Given the description of an element on the screen output the (x, y) to click on. 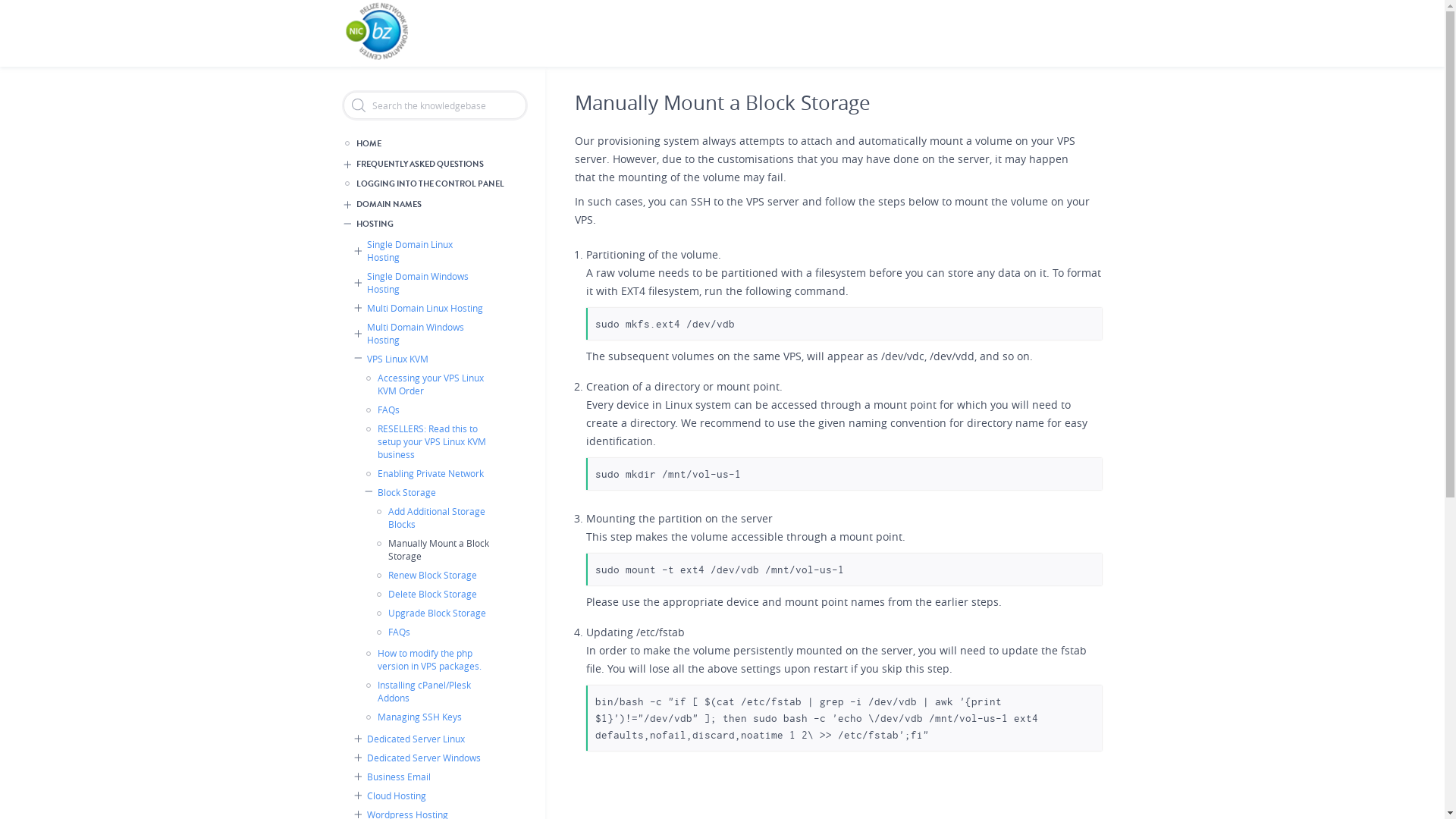
Cloud Hosting Element type: text (423, 794)
Skip to main content Element type: text (722, 1)
Single Domain Windows Hosting Element type: text (423, 282)
DOMAIN NAMES Element type: text (433, 204)
FREQUENTLY ASKED QUESTIONS Element type: text (433, 163)
Accessing your VPS Linux KVM Order Element type: text (428, 384)
Search Element type: text (12, 9)
How to modify the php version in VPS packages. Element type: text (428, 659)
Upgrade Block Storage Element type: text (439, 612)
Installing cPanel/Plesk Addons Element type: text (428, 691)
Managing SSH Keys Element type: text (428, 716)
RESELLERS: Read this to setup your VPS Linux KVM business Element type: text (428, 440)
VPS Linux KVM Element type: text (423, 357)
Enter the terms you wish to search for. Element type: hover (433, 105)
FAQs Element type: text (439, 630)
HOME Element type: text (428, 144)
Business Email Element type: text (423, 776)
HOSTING Element type: text (433, 224)
LOGGING INTO THE CONTROL PANEL Element type: text (428, 184)
Enabling Private Network Element type: text (428, 473)
Delete Block Storage Element type: text (439, 592)
Multi Domain Windows Hosting Element type: text (423, 332)
Block Storage Element type: text (433, 491)
Add Additional Storage Blocks Element type: text (439, 517)
Single Domain Linux Hosting Element type: text (423, 250)
Manually Mount a Block Storage Element type: text (439, 549)
Dedicated Server Linux Element type: text (423, 738)
Renew Block Storage Element type: text (439, 574)
Dedicated Server Windows Element type: text (423, 756)
FAQs Element type: text (428, 409)
Multi Domain Linux Hosting Element type: text (423, 307)
